Given the description of an element on the screen output the (x, y) to click on. 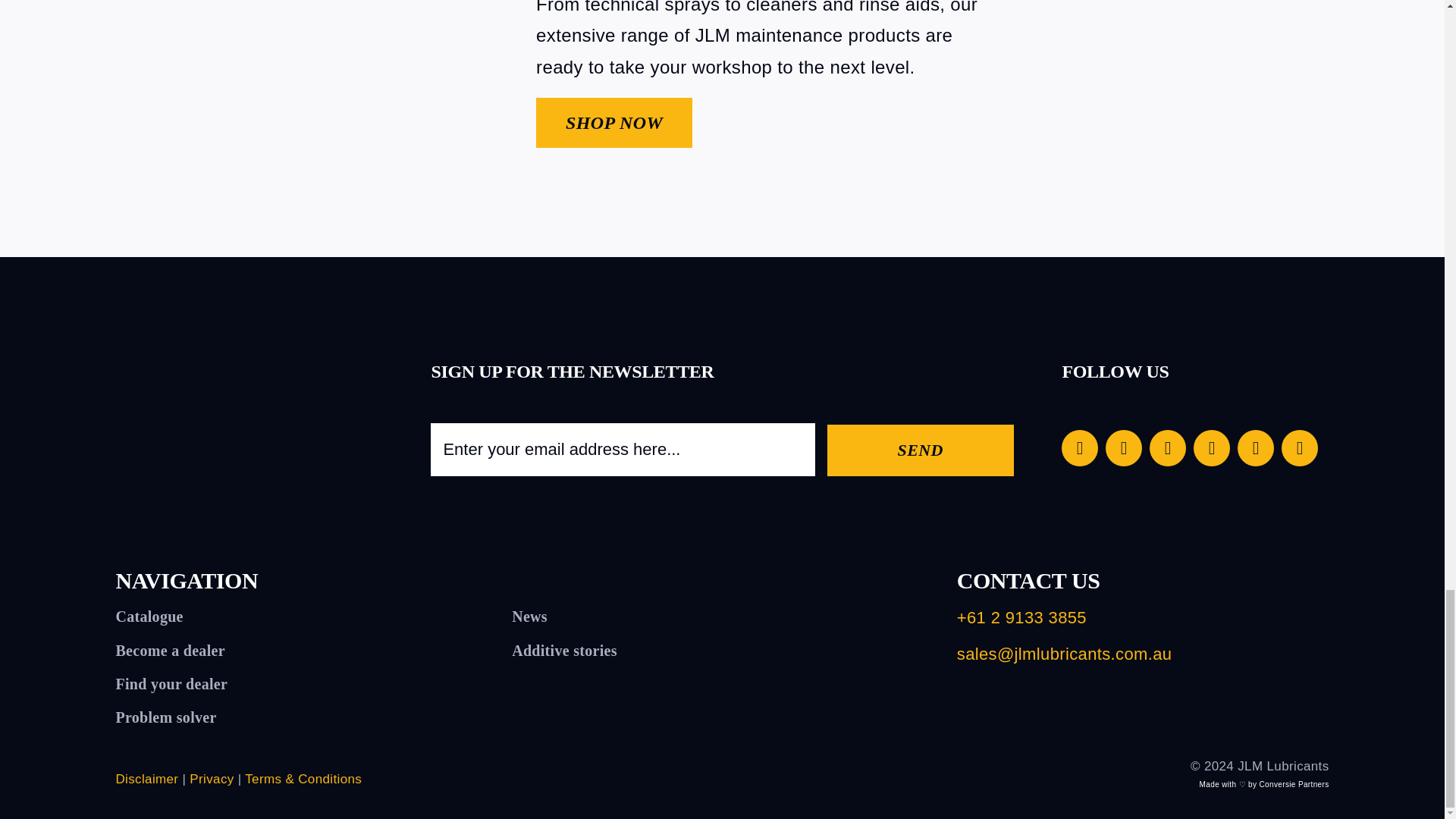
Facebook (1079, 447)
390ac21a53b9350acff7348e6422edc8 (267, 96)
LinkedIn (1211, 447)
Email (1255, 447)
Phone (1299, 447)
Send (920, 450)
Instagram (1123, 447)
YouTube (1168, 447)
